Given the description of an element on the screen output the (x, y) to click on. 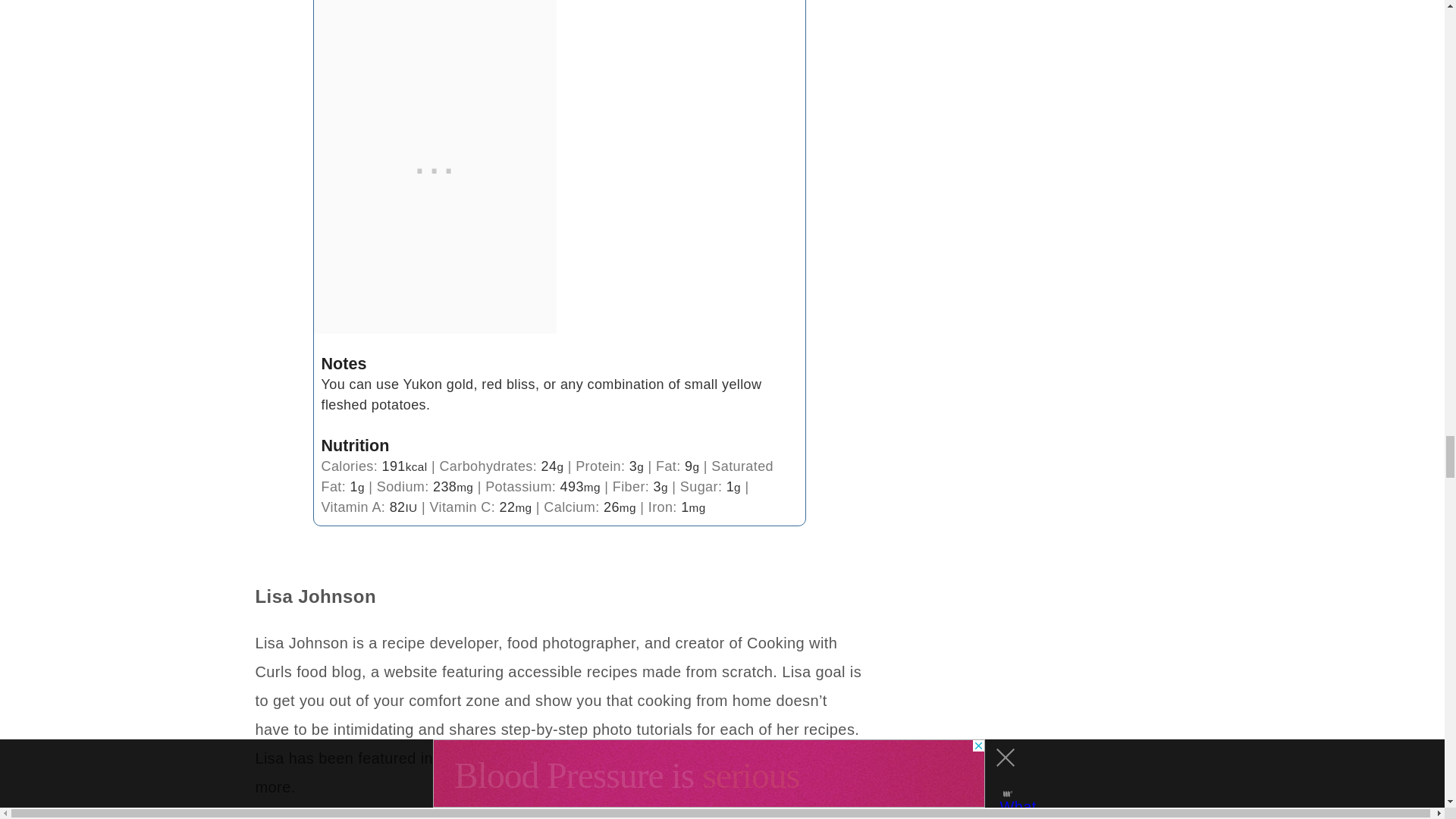
Posts by Lisa Johnson (314, 596)
